Given the description of an element on the screen output the (x, y) to click on. 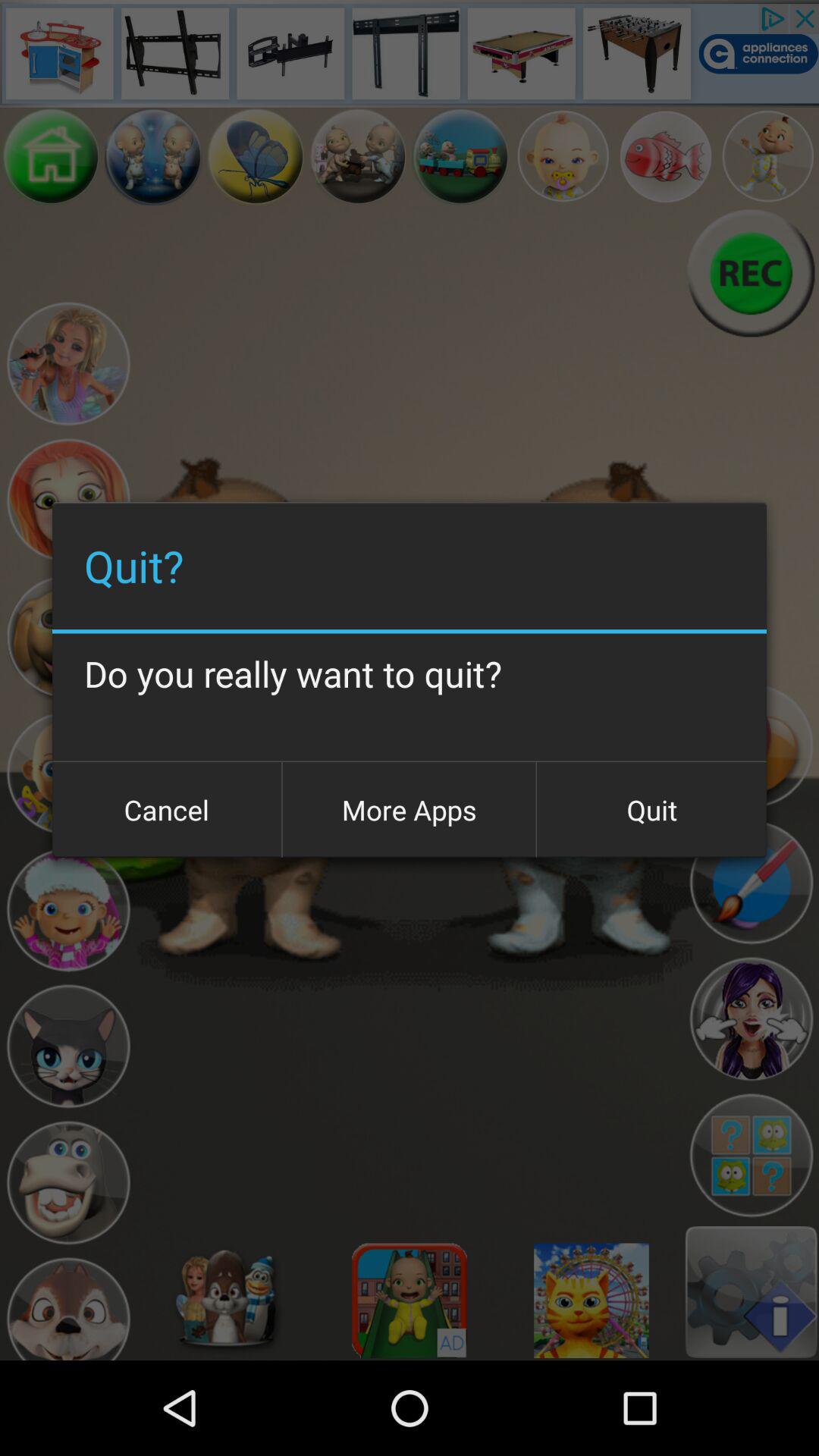
choose the selection (751, 1018)
